Given the description of an element on the screen output the (x, y) to click on. 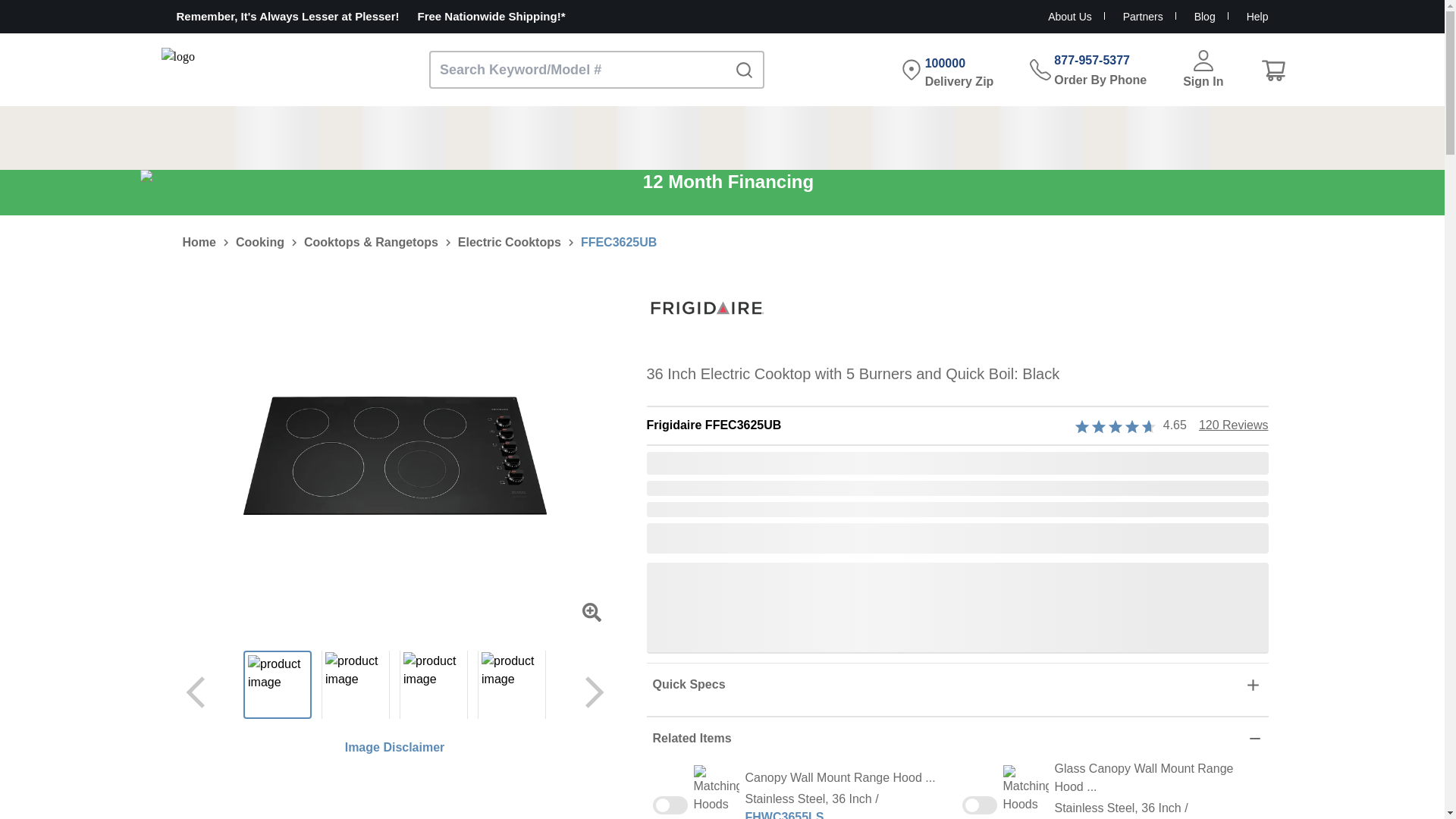
Electric Cooktops (509, 241)
4.65 out of 5 (1112, 425)
Cooking (259, 241)
on (669, 805)
Home (198, 241)
FFEC3625UB (618, 241)
Image Disclaimer (395, 747)
About Us (1079, 17)
Help (1257, 17)
Partners (1152, 17)
